Given the description of an element on the screen output the (x, y) to click on. 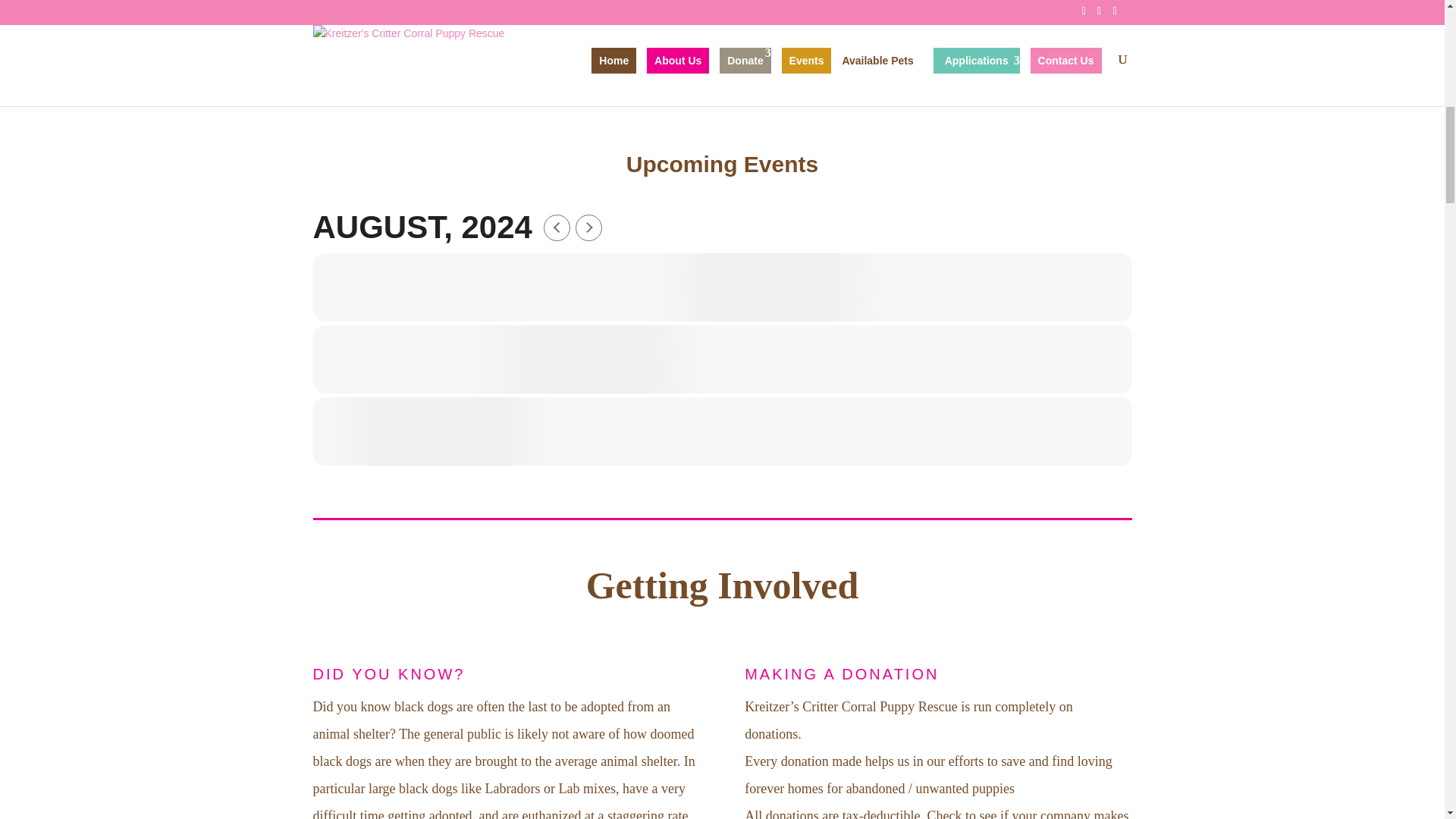
ADOPT (398, 95)
VOLUNTEER (613, 95)
ABOUT (1045, 95)
DONATE (829, 95)
